Given the description of an element on the screen output the (x, y) to click on. 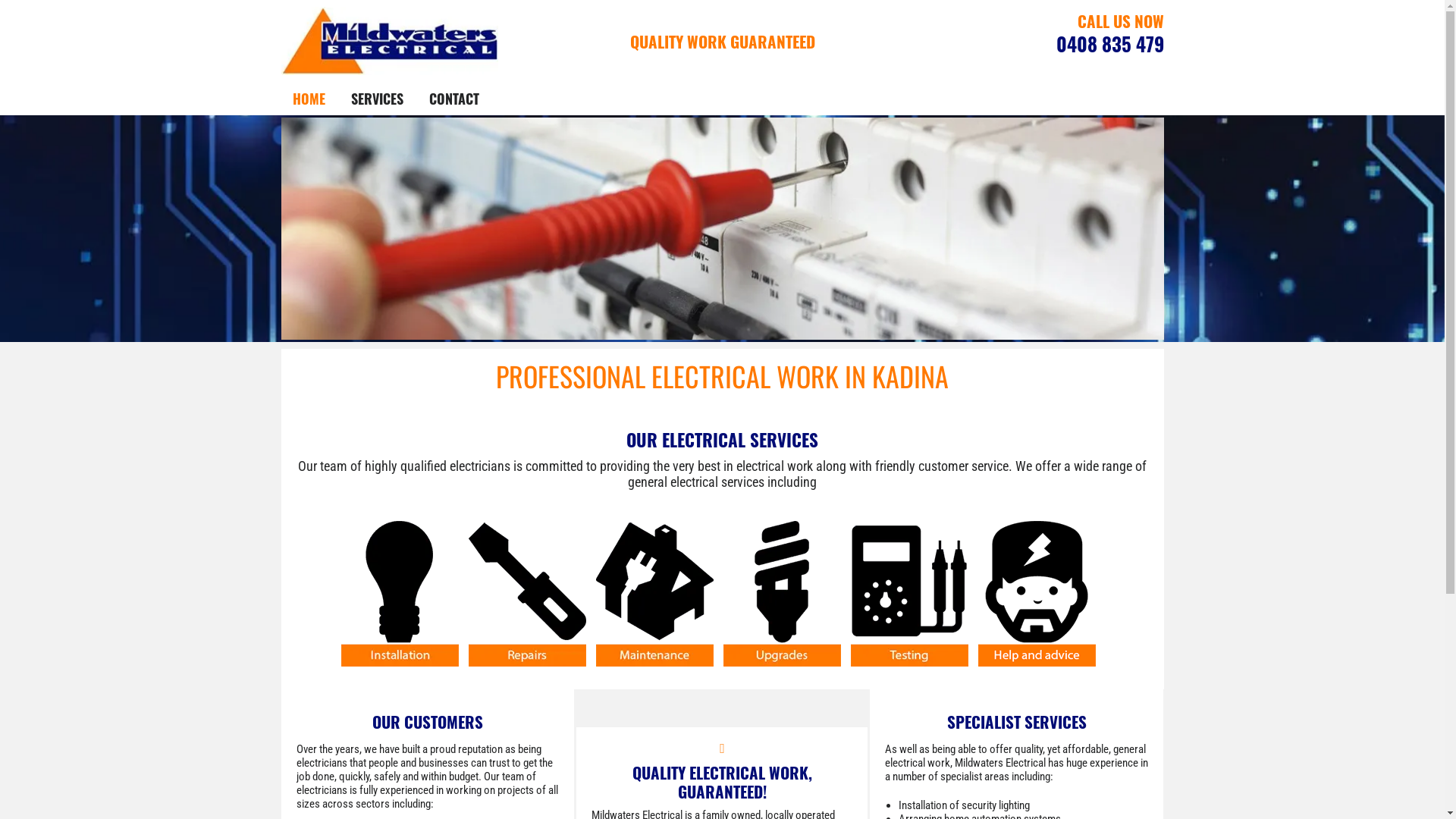
mildwaters electrical repairs icon Element type: hover (527, 593)
mildwaters electrical logo Element type: hover (389, 40)
mildwaters electrical testing icon Element type: hover (909, 593)
mildwaters electrical upgrade icon Element type: hover (781, 593)
HOME Element type: text (308, 98)
CONTACT Element type: text (454, 98)
SERVICES Element type: text (376, 98)
mildwaters electrical help and advice icon Element type: hover (1036, 593)
mildwaters electrical maintanance icon Element type: hover (654, 593)
mildwaters electrical installation icon Element type: hover (399, 593)
